Given the description of an element on the screen output the (x, y) to click on. 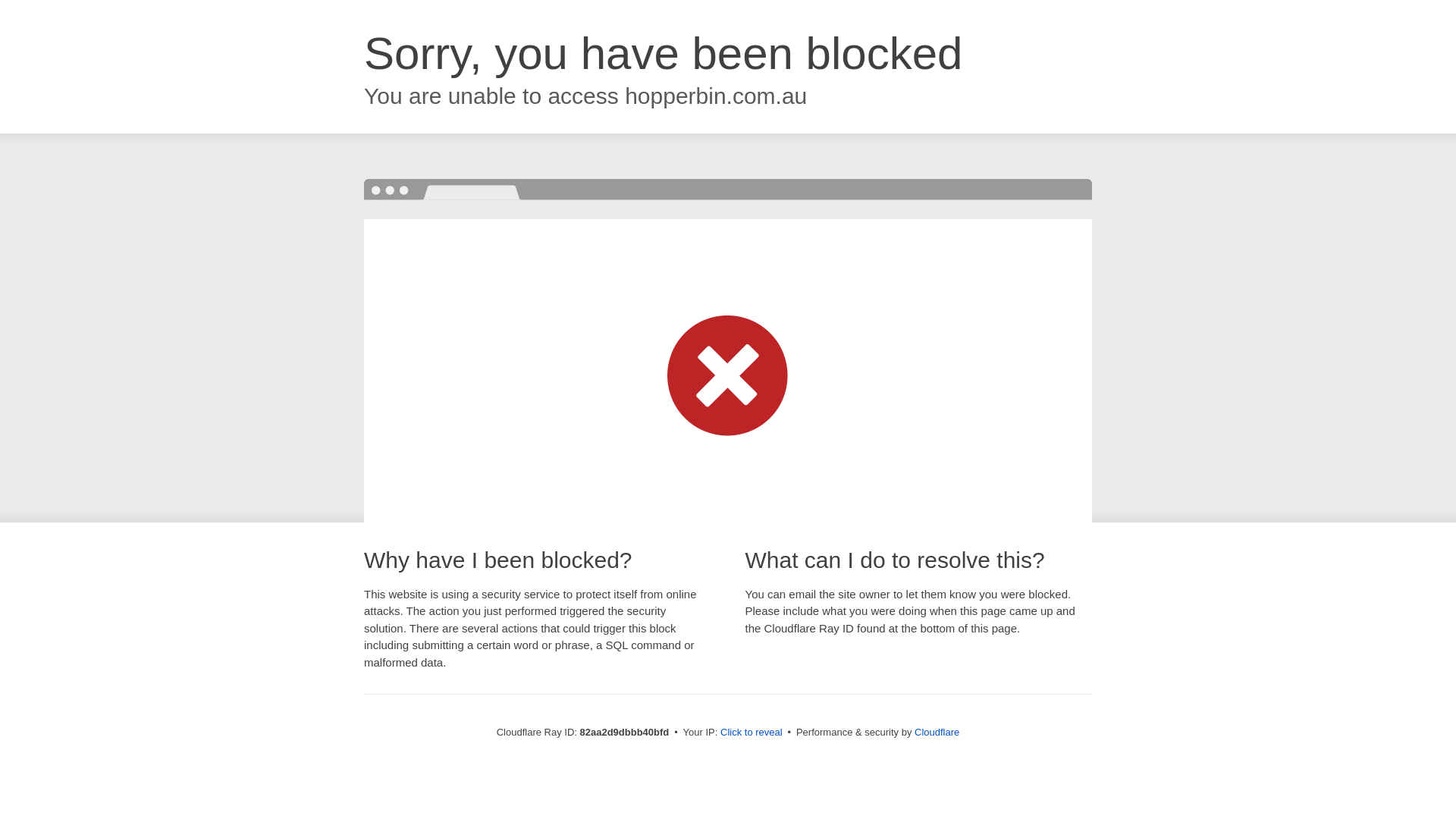
Click to reveal Element type: text (751, 732)
Cloudflare Element type: text (936, 731)
